Given the description of an element on the screen output the (x, y) to click on. 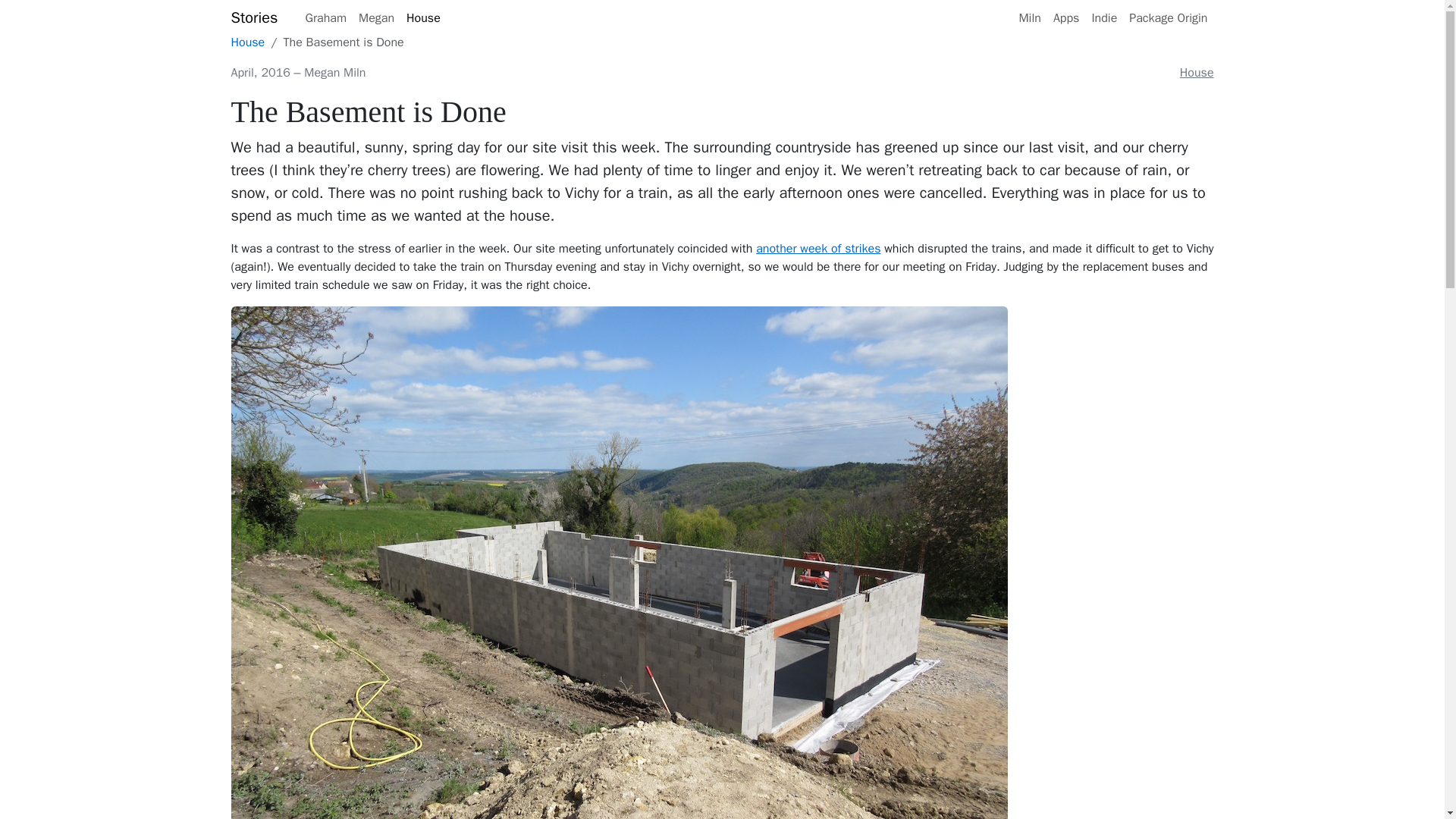
House (1196, 72)
another week of strikes (817, 248)
Apps (1066, 18)
Stories (254, 18)
Indie (1103, 18)
House (423, 18)
Miln (1028, 18)
House (247, 42)
House (247, 42)
Package Origin (1167, 18)
Megan (376, 18)
Graham (325, 18)
